Given the description of an element on the screen output the (x, y) to click on. 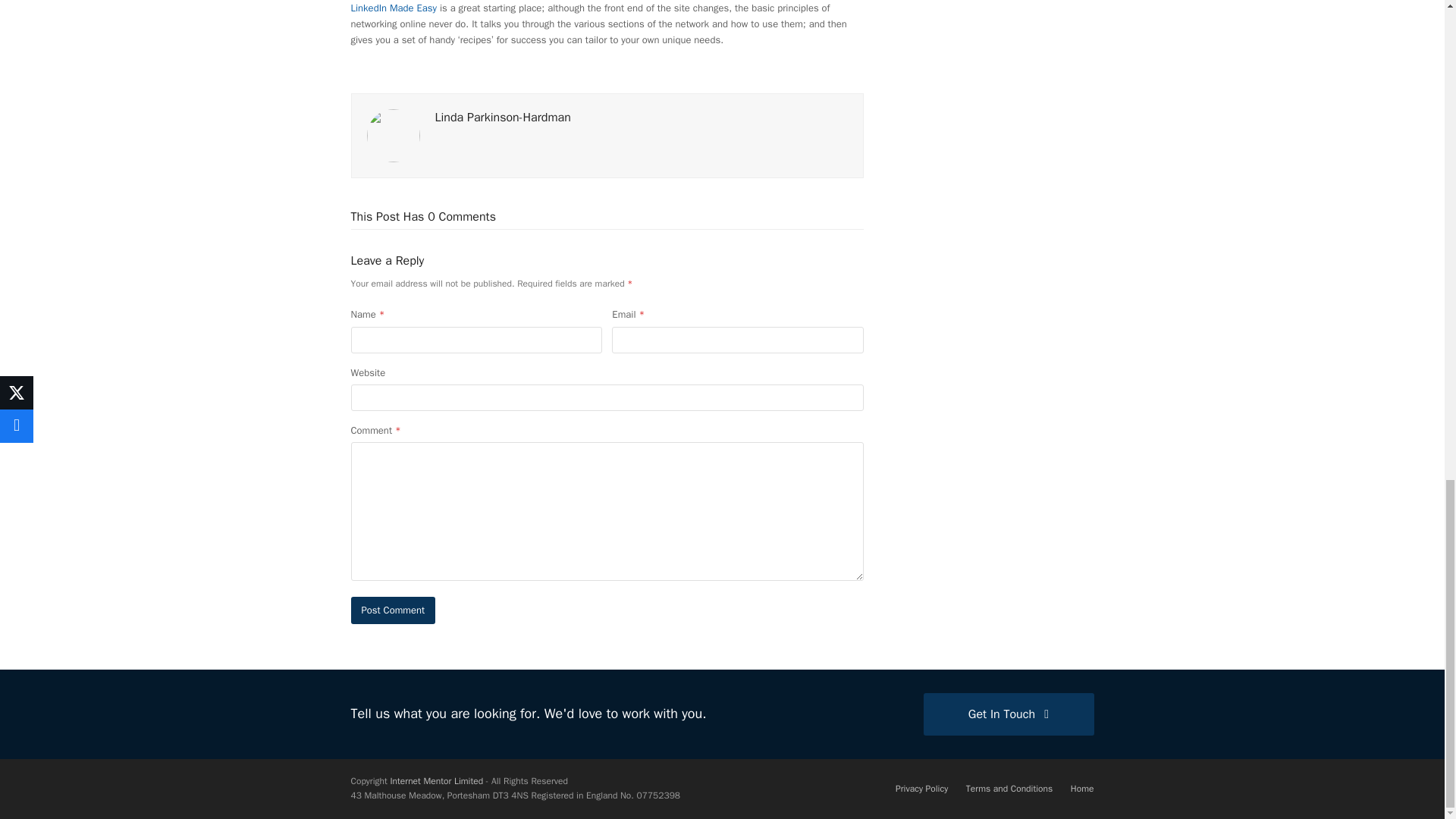
Post Comment (392, 610)
LinkedIn Made Easy (394, 7)
Visit Author Page (502, 117)
Post Comment (392, 610)
Linda Parkinson-Hardman (502, 117)
Visit Author Page (393, 133)
